Given the description of an element on the screen output the (x, y) to click on. 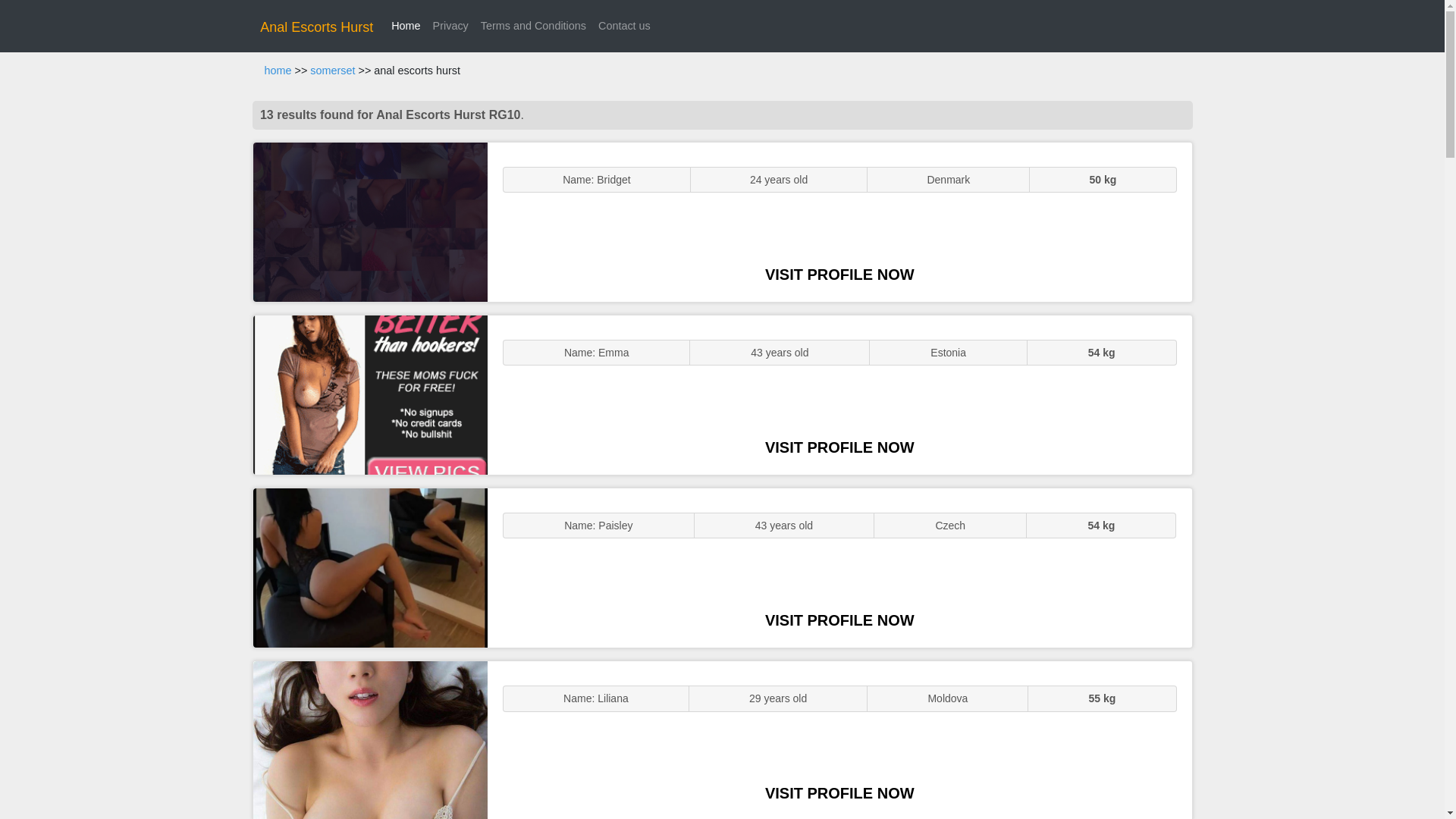
VISIT PROFILE NOW (839, 619)
Privacy (450, 25)
Sexy (370, 567)
Contact us (624, 25)
VISIT PROFILE NOW (839, 792)
 ENGLISH STUNNER (370, 222)
Sluts (370, 739)
VISIT PROFILE NOW (839, 446)
Terms and Conditions (533, 25)
home (277, 70)
somerset (332, 70)
VISIT PROFILE NOW (839, 274)
GFE (370, 395)
Anal Escorts Hurst (316, 27)
